Given the description of an element on the screen output the (x, y) to click on. 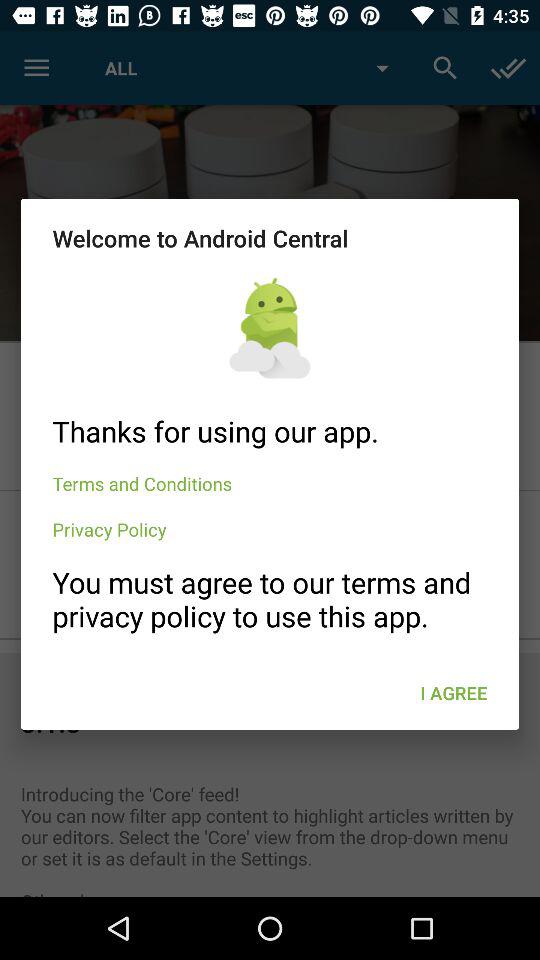
select item below the you must agree (453, 692)
